Given the description of an element on the screen output the (x, y) to click on. 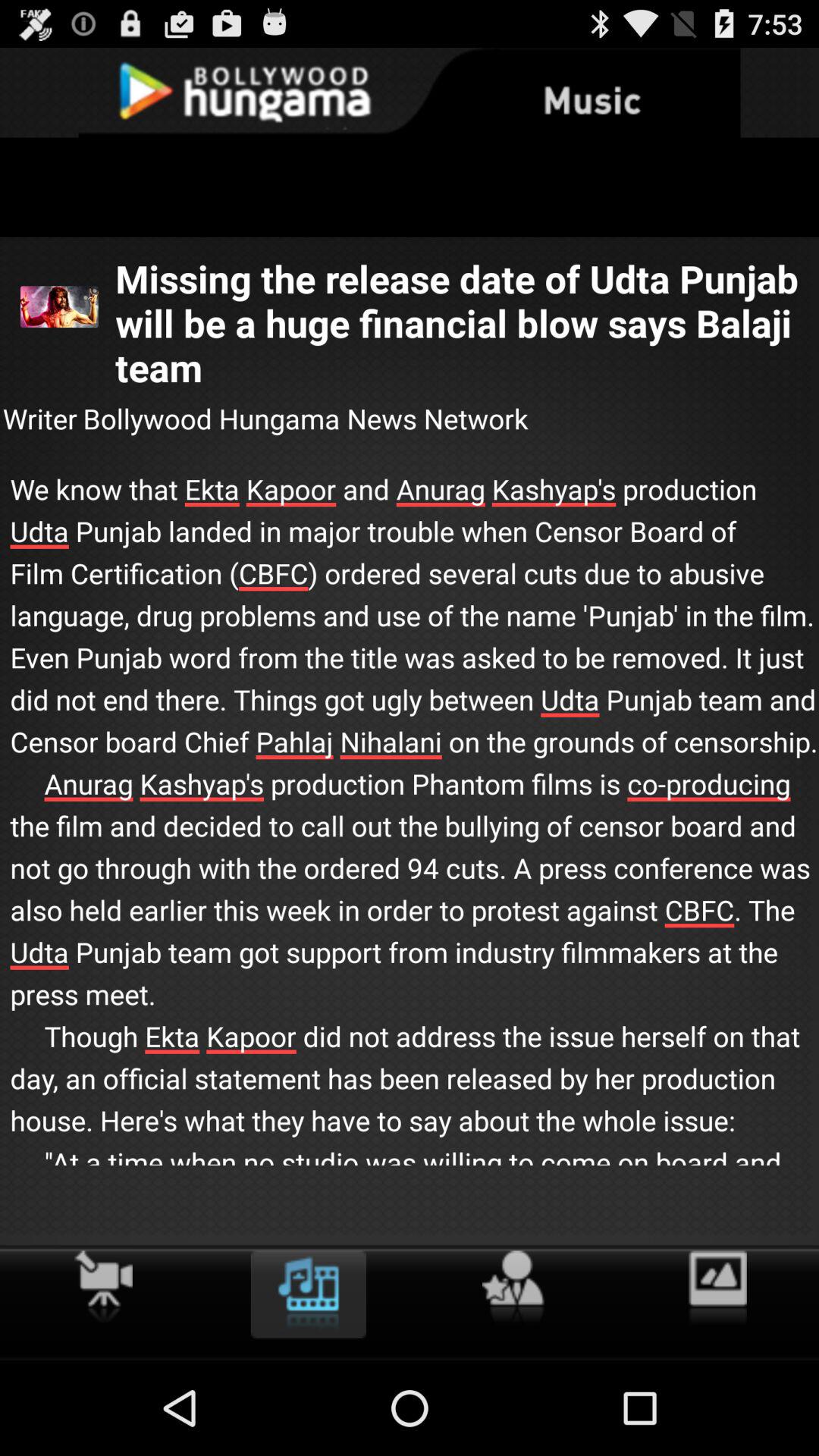
choose the icon below writer icon (409, 842)
